Given the description of an element on the screen output the (x, y) to click on. 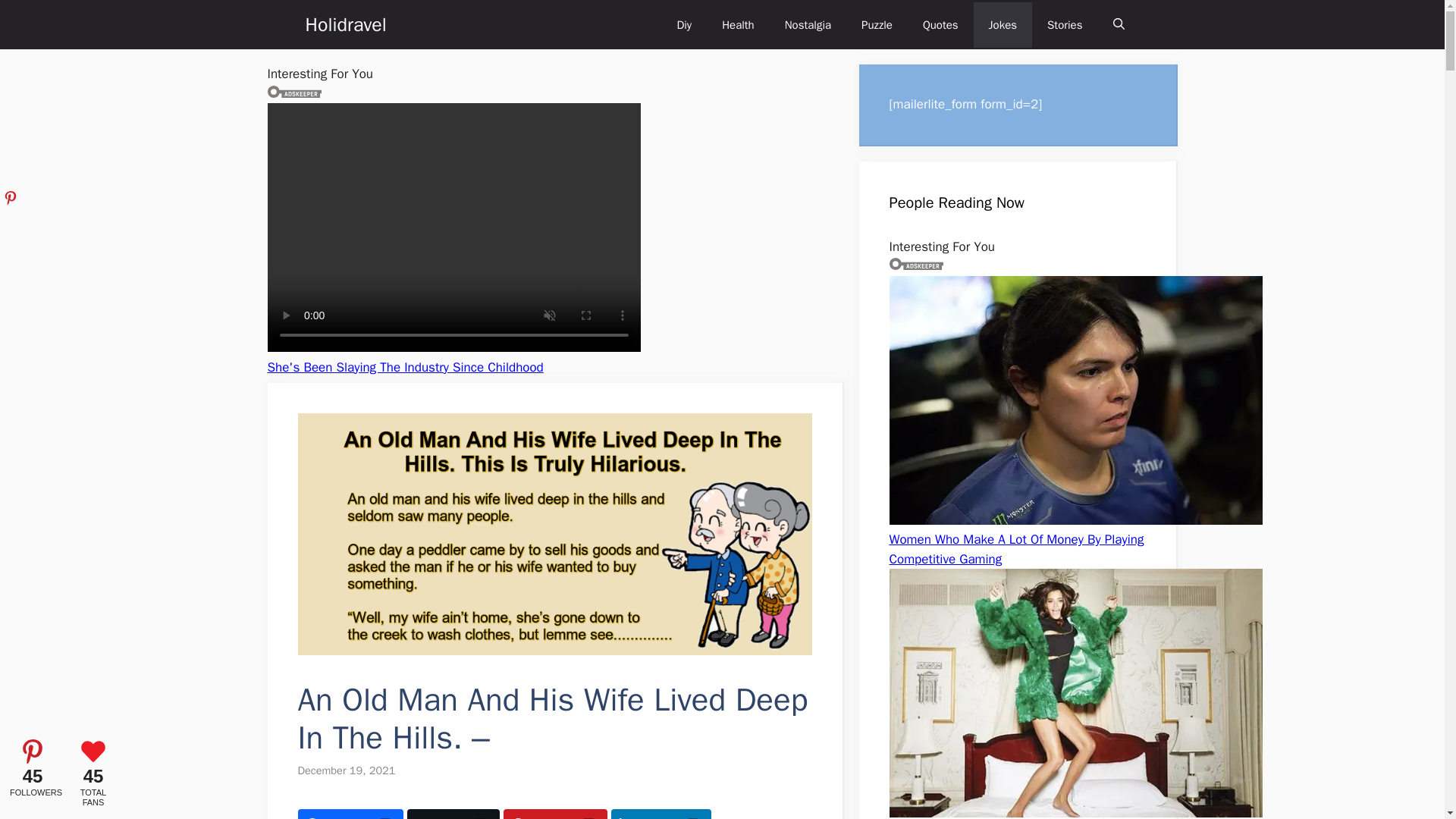
Pinterest1 (555, 814)
Share on Twitter (453, 814)
Quotes (940, 23)
Stories (1064, 23)
Holidravel (344, 24)
Share on Facebook (350, 814)
Diy (683, 23)
Share on LinkedIn (661, 814)
Twitter0 (453, 814)
Health (738, 23)
Share on Pinterest (555, 814)
Puzzle (876, 23)
Nostalgia (807, 23)
LinkedIn0 (661, 814)
Jokes (1003, 23)
